Given the description of an element on the screen output the (x, y) to click on. 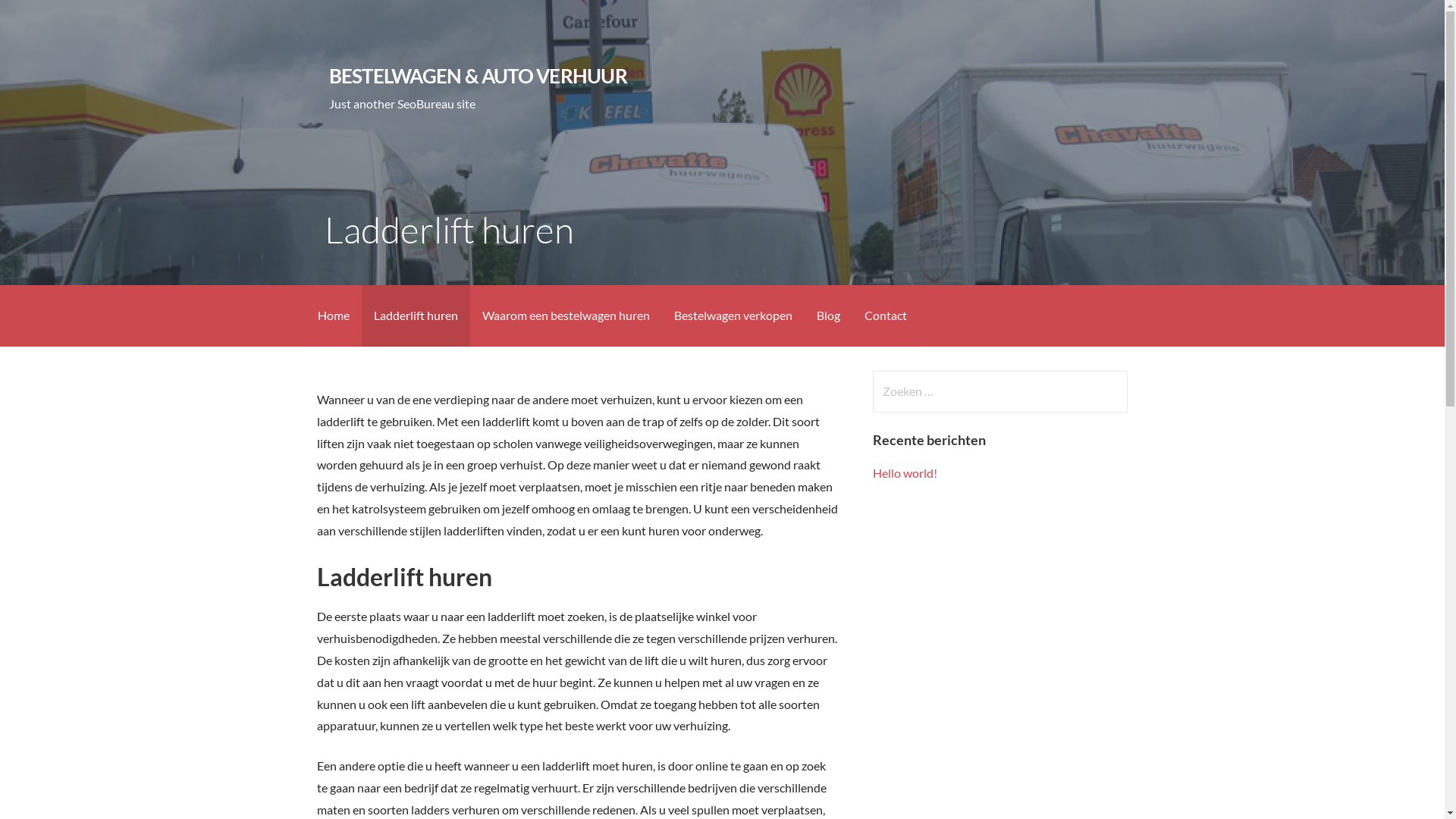
BESTELWAGEN & AUTO VERHUUR Element type: text (478, 75)
Hello world! Element type: text (904, 472)
Waarom een bestelwagen huren Element type: text (566, 315)
Contact Element type: text (885, 315)
Zoeken Element type: text (42, 18)
Ladderlift huren Element type: text (414, 315)
Bestelwagen verkopen Element type: text (732, 315)
Blog Element type: text (827, 315)
Home Element type: text (332, 315)
